Given the description of an element on the screen output the (x, y) to click on. 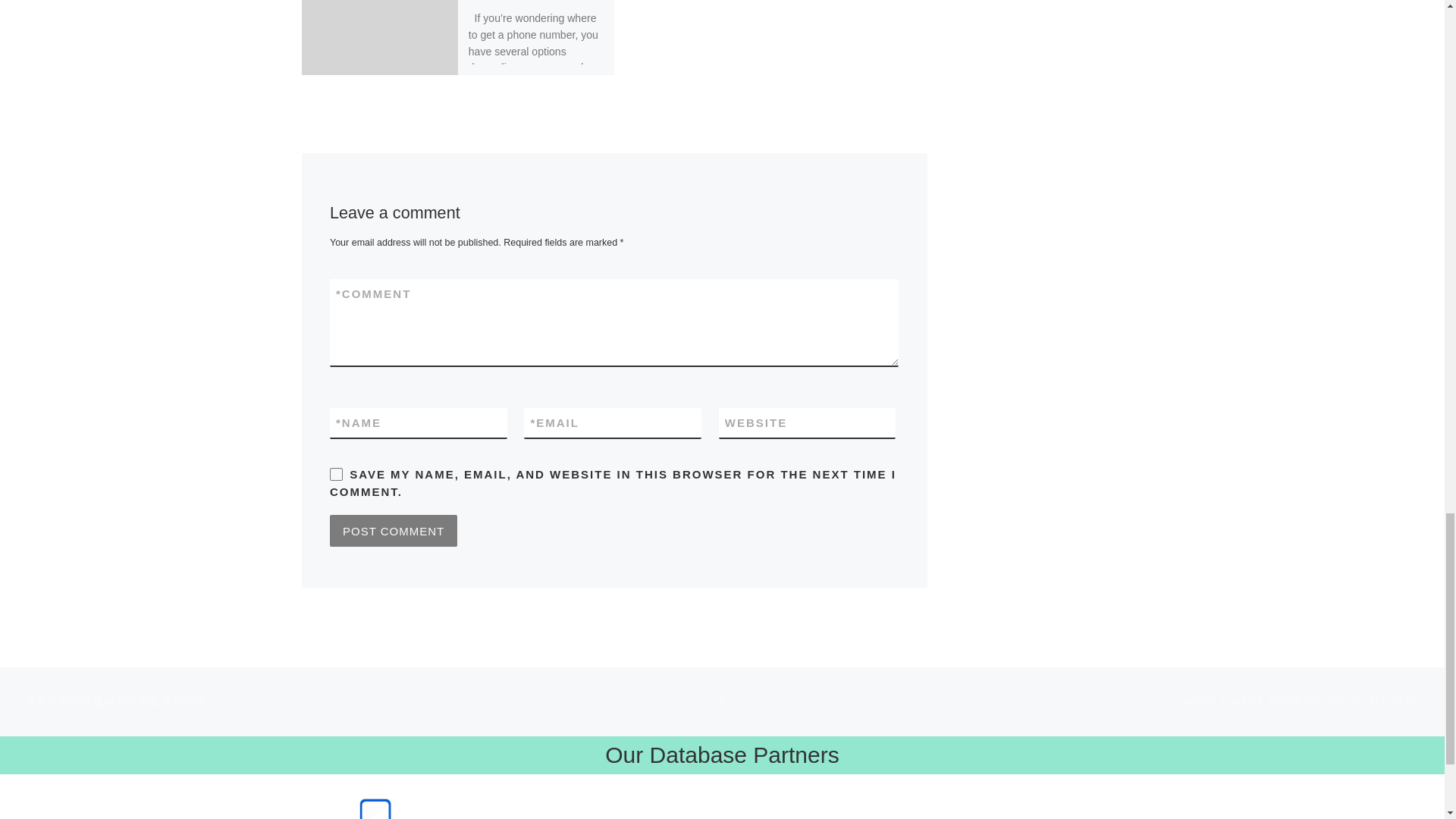
yes (336, 473)
Post Comment (393, 531)
Post Comment (393, 531)
